Given the description of an element on the screen output the (x, y) to click on. 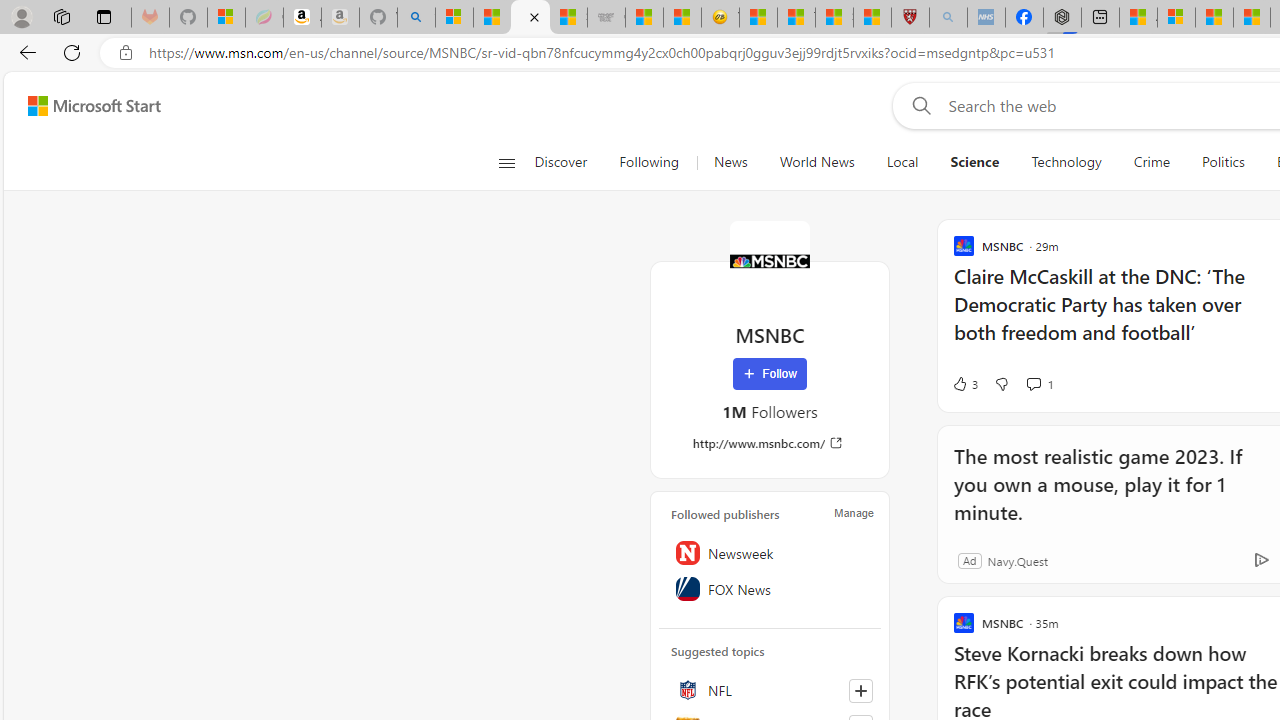
Newsweek (770, 552)
News (730, 162)
Discover (560, 162)
MSNBC - MSN (530, 17)
Class: button-glyph (505, 162)
Following (648, 162)
Microsoft-Report a Concern to Bing (225, 17)
Science (975, 162)
NCL Adult Asthma Inhaler Choice Guideline - Sleeping (985, 17)
Robert H. Shmerling, MD - Harvard Health (910, 17)
